Given the description of an element on the screen output the (x, y) to click on. 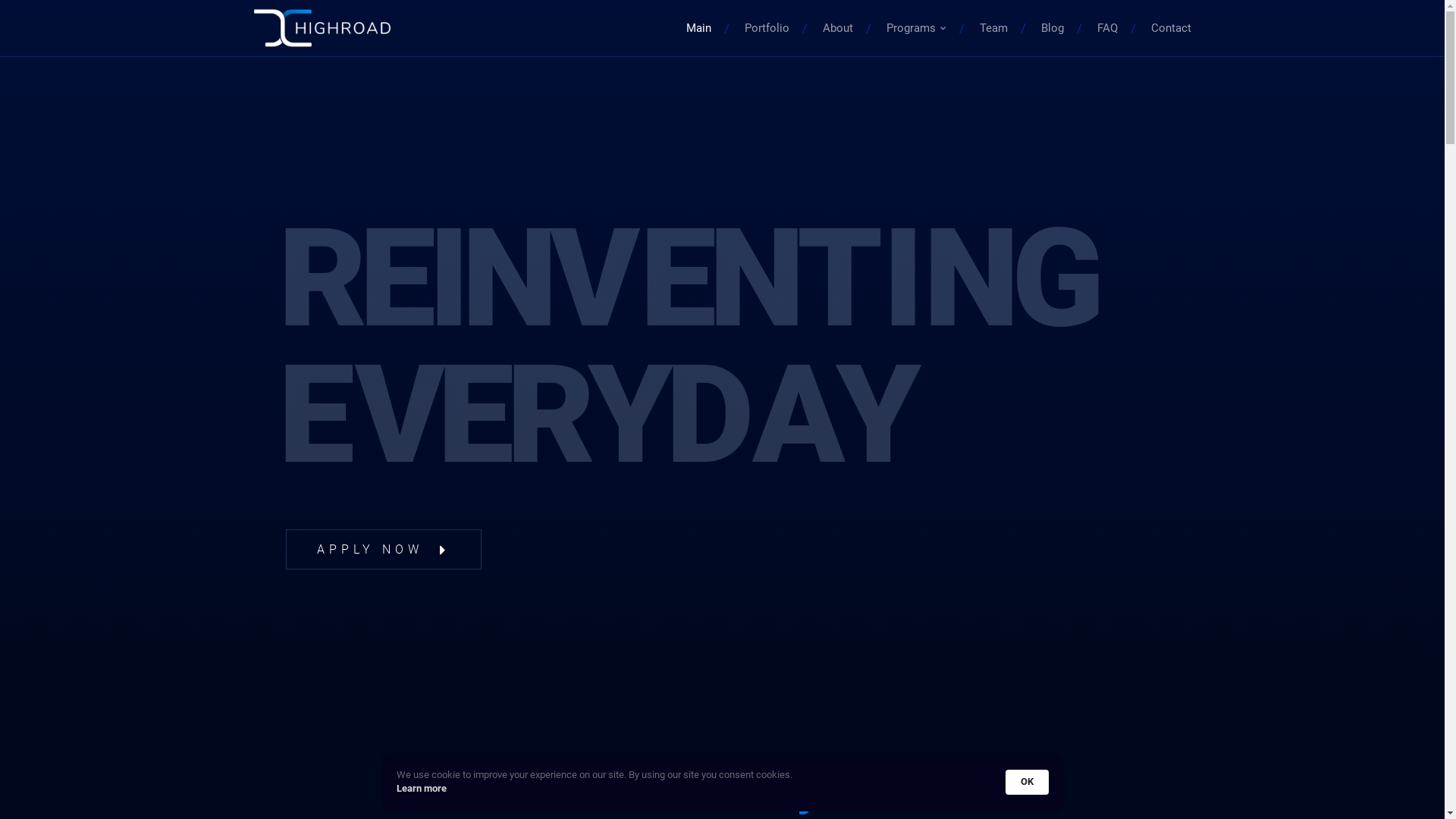
Programs Element type: text (915, 28)
Team Element type: text (993, 28)
Portfolio Element type: text (766, 28)
About Element type: text (837, 28)
Contact Element type: text (1171, 28)
Blog Element type: text (1051, 28)
FAQ Element type: text (1106, 28)
Main Element type: text (698, 28)
Learn more Element type: text (420, 788)
APPLY NOW Element type: text (382, 549)
